Given the description of an element on the screen output the (x, y) to click on. 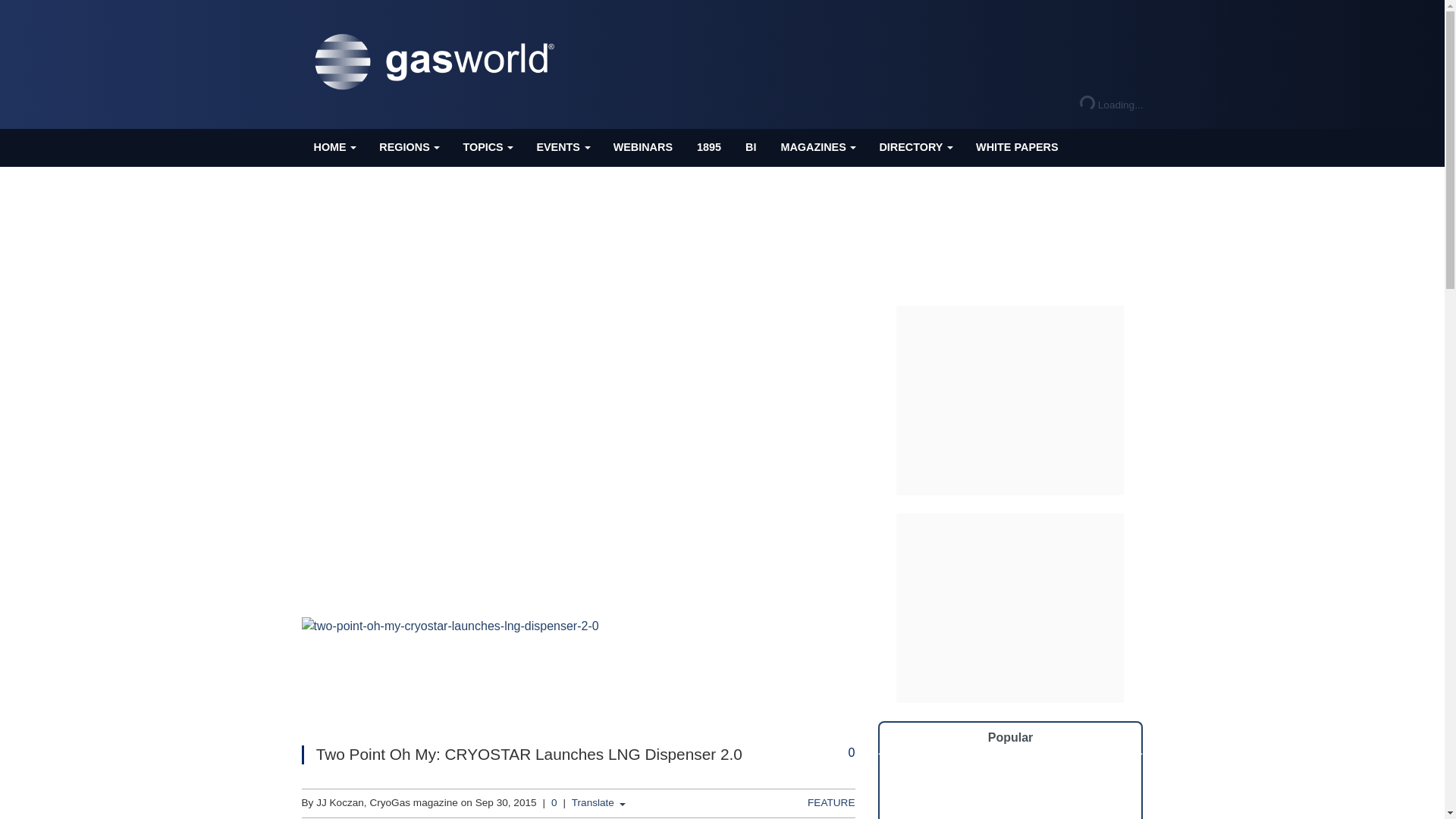
HOME (334, 146)
Topics (486, 146)
TOPICS (486, 146)
REGIONS (407, 146)
gasworld (438, 62)
Regions (407, 146)
Home (334, 146)
